Given the description of an element on the screen output the (x, y) to click on. 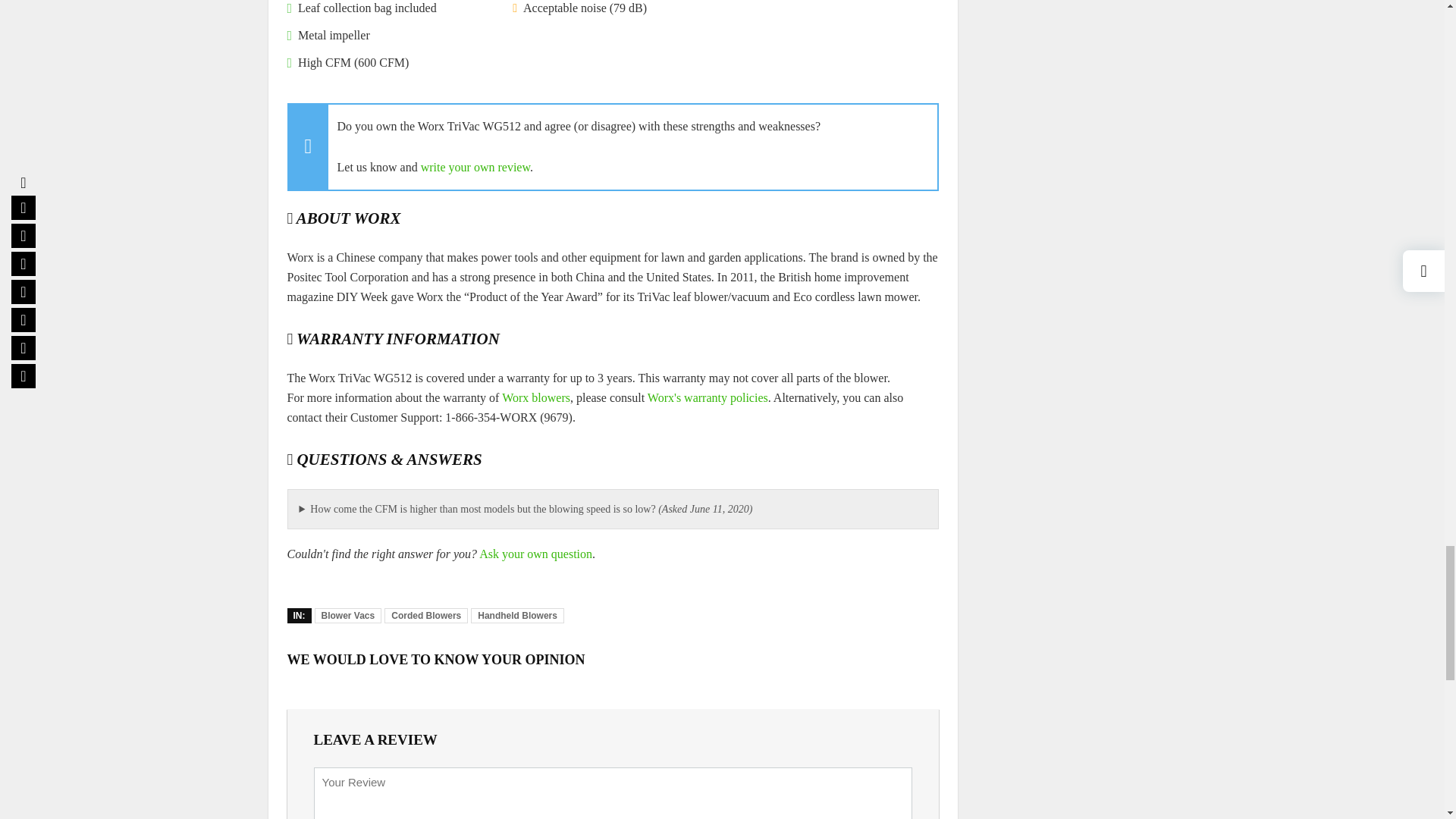
Click to open the warranty policy in a new tab (707, 397)
Click to scroll and write your review (474, 166)
Click to display the question form (535, 553)
